Given the description of an element on the screen output the (x, y) to click on. 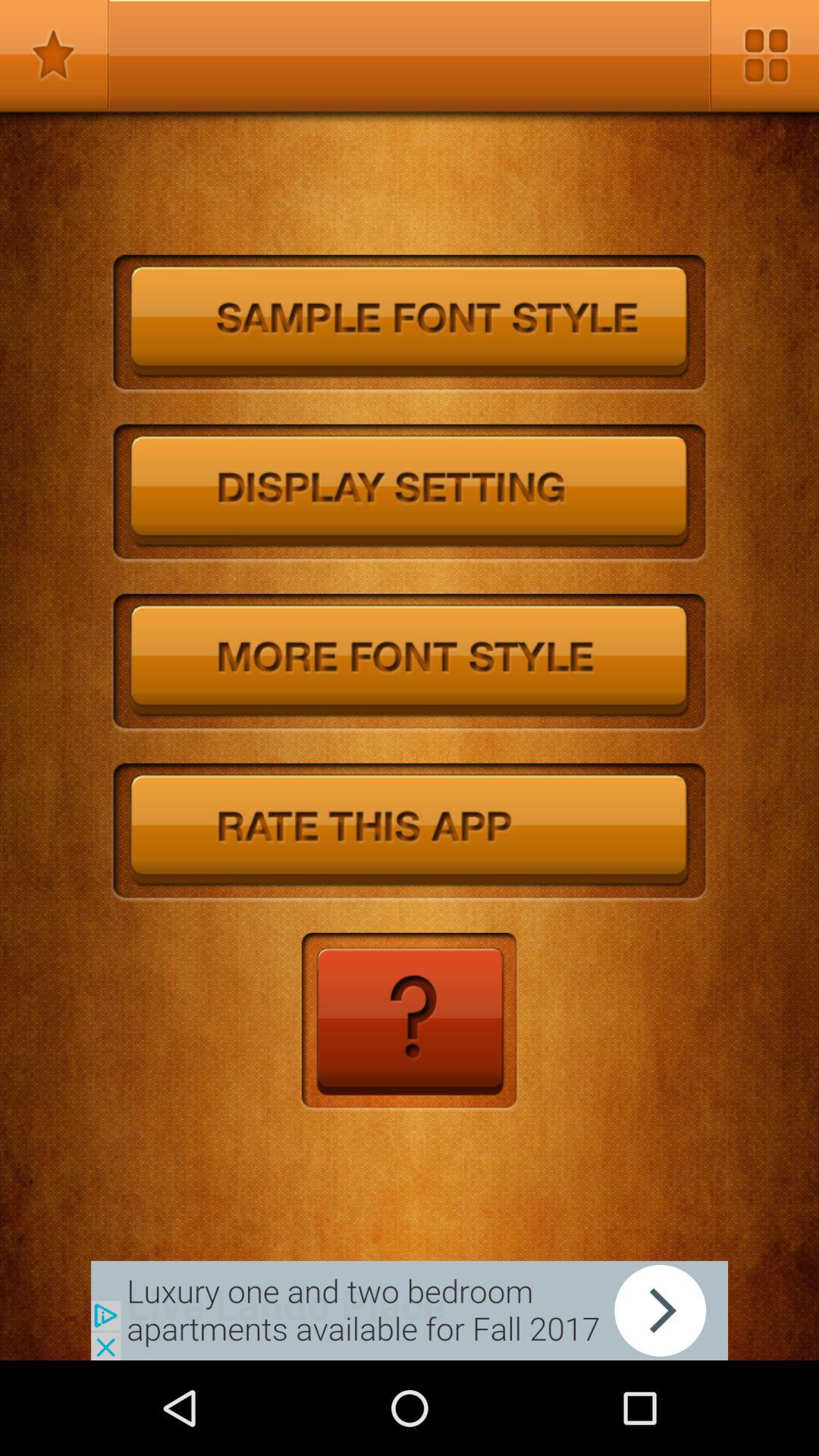
open display setting (409, 493)
